Given the description of an element on the screen output the (x, y) to click on. 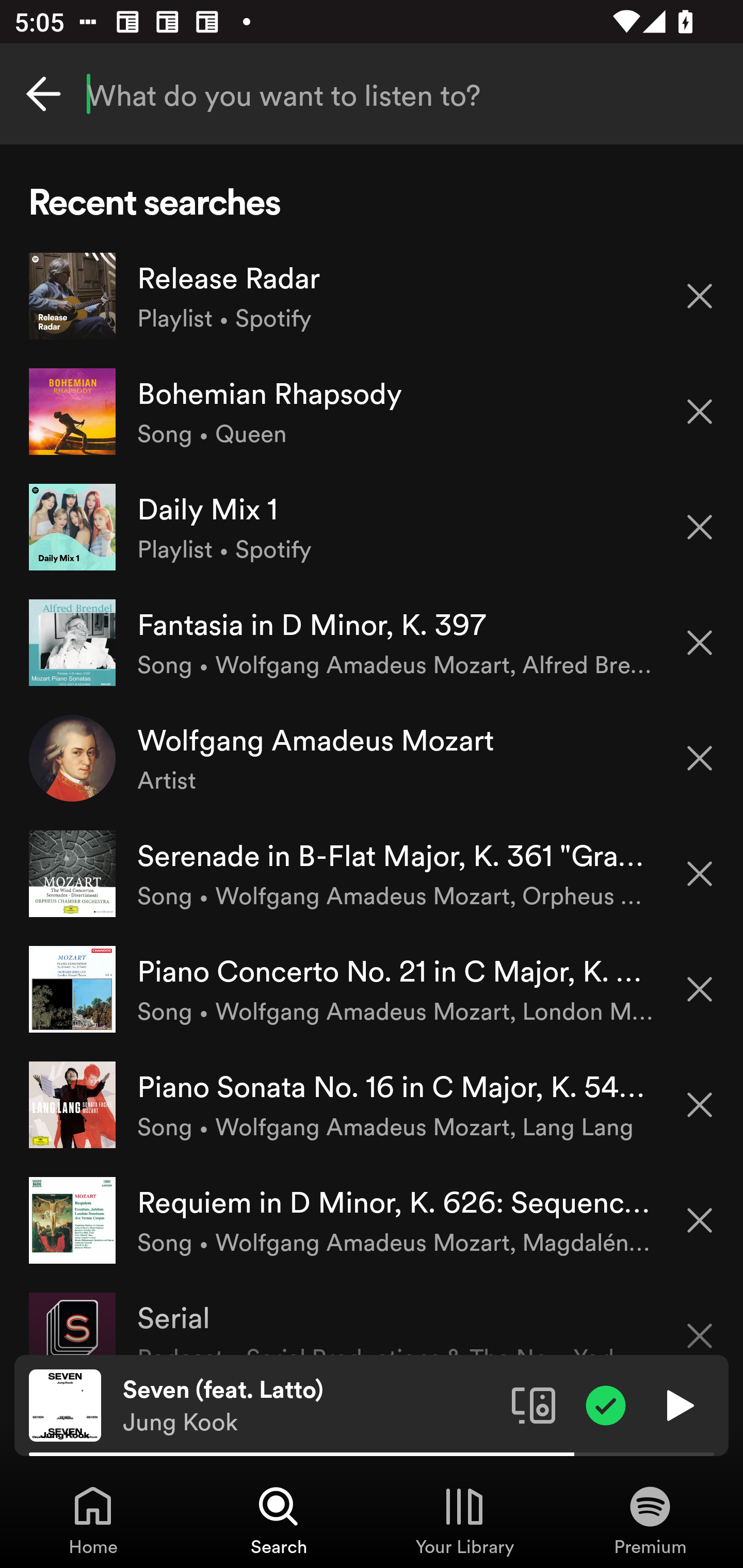
What do you want to listen to? (371, 93)
Cancel (43, 93)
Release Radar Playlist • Spotify Remove (371, 296)
Remove (699, 295)
Bohemian Rhapsody Song • Queen Remove (371, 411)
Remove (699, 411)
Daily Mix 1 Playlist • Spotify Remove (371, 526)
Remove (699, 527)
Remove (699, 642)
Wolfgang Amadeus Mozart Artist Remove (371, 757)
Remove (699, 758)
Remove (699, 874)
Remove (699, 989)
Remove (699, 1104)
Remove (699, 1220)
Remove (699, 1323)
Seven (feat. Latto) Jung Kook (309, 1405)
The cover art of the currently playing track (64, 1404)
Connect to a device. Opens the devices menu (533, 1404)
Item added (605, 1404)
Play (677, 1404)
Home, Tab 1 of 4 Home Home (92, 1519)
Search, Tab 2 of 4 Search Search (278, 1519)
Your Library, Tab 3 of 4 Your Library Your Library (464, 1519)
Premium, Tab 4 of 4 Premium Premium (650, 1519)
